Given the description of an element on the screen output the (x, y) to click on. 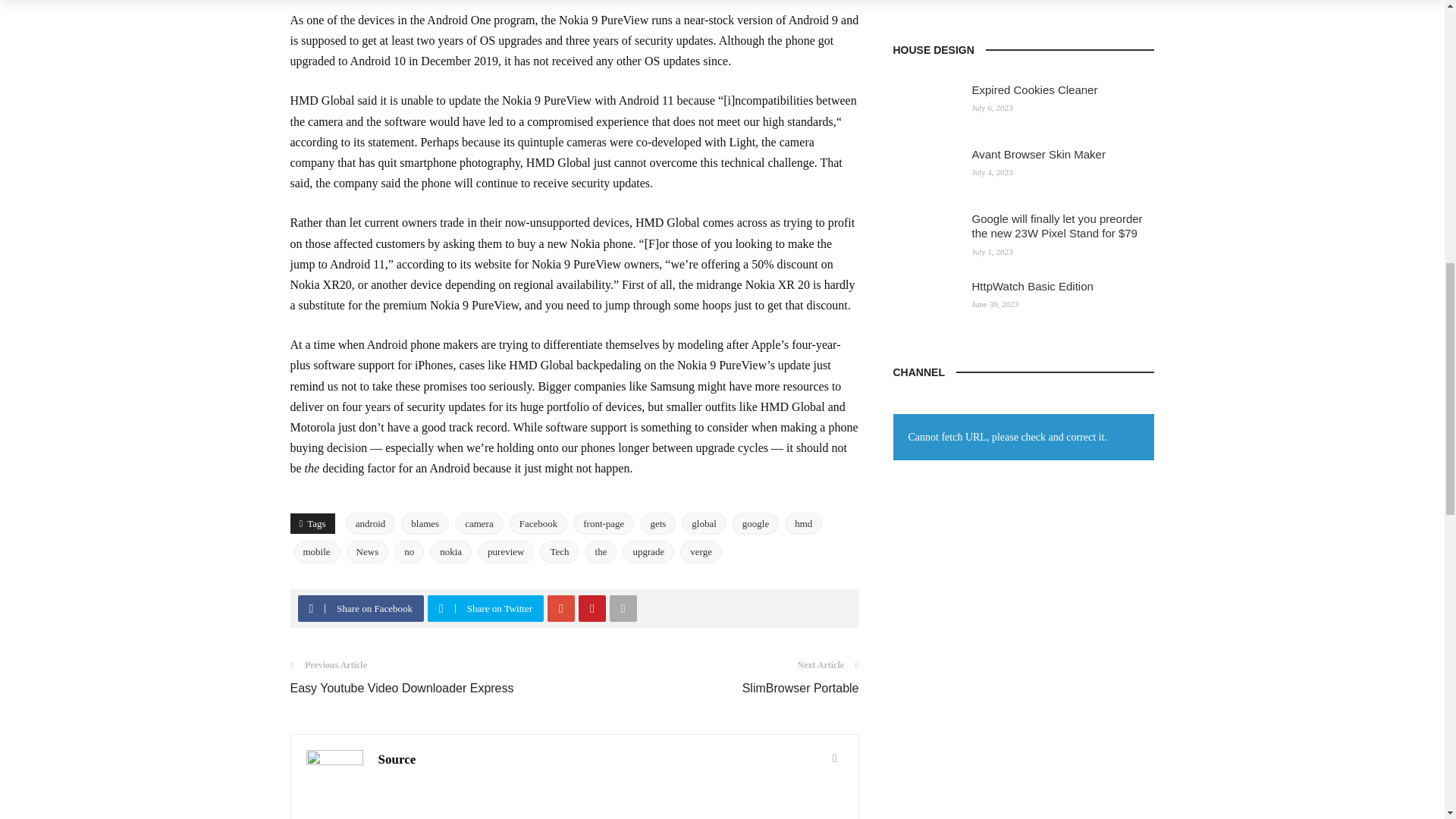
View all posts tagged camera (478, 523)
View all posts tagged Facebook (538, 523)
View all posts tagged android (371, 523)
View all posts tagged global (703, 523)
View all posts tagged gets (657, 523)
View all posts tagged google (755, 523)
View all posts tagged front-page (603, 523)
View all posts tagged blames (424, 523)
